Given the description of an element on the screen output the (x, y) to click on. 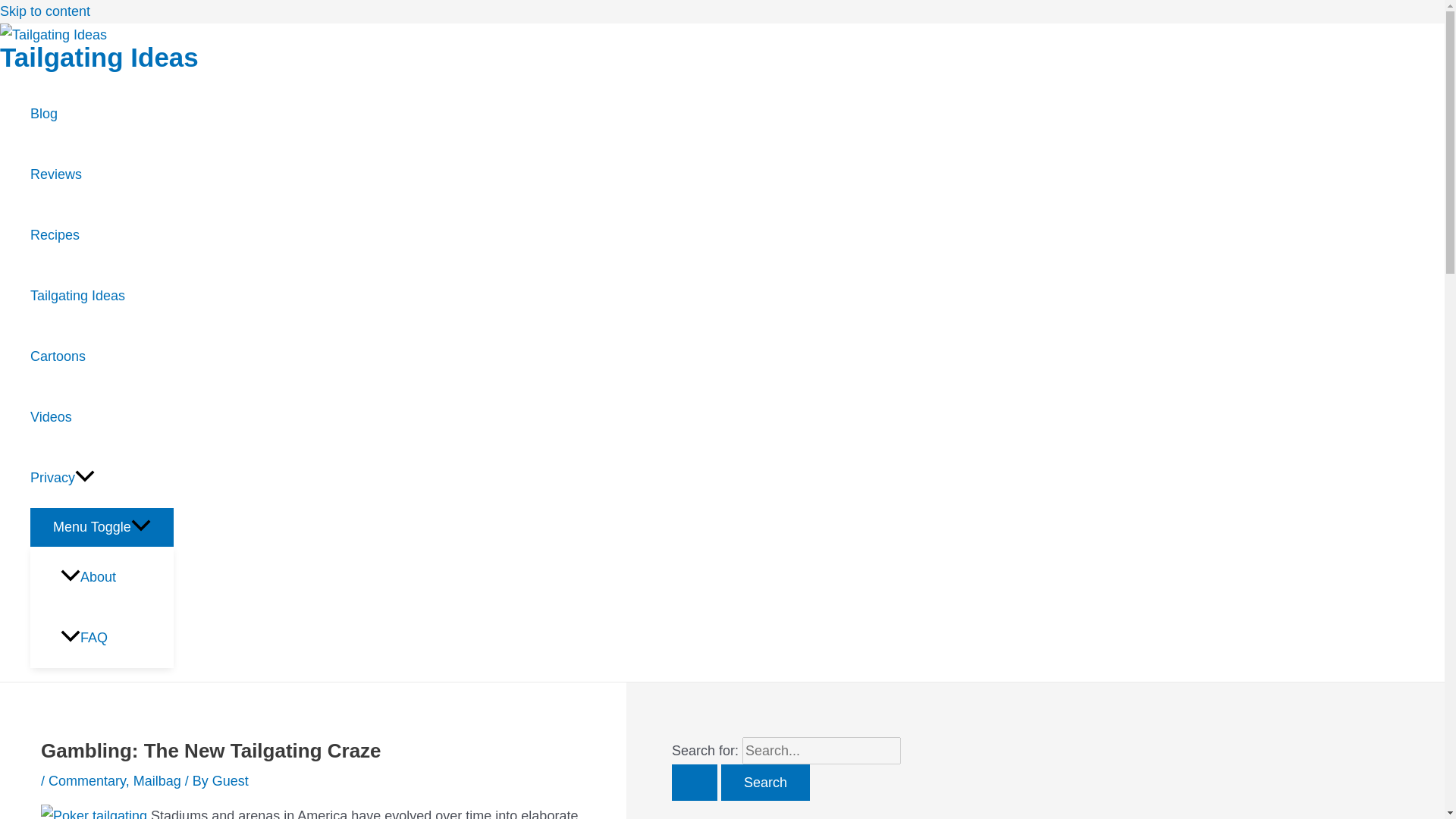
Search (764, 782)
Reviews (101, 174)
Tailgating Ideas (101, 295)
Guest (230, 780)
Skip to content (45, 11)
Videos (101, 416)
View all posts by Guest (230, 780)
Cartoons (101, 355)
Commentary (86, 780)
Skip to content (45, 11)
Search (764, 782)
Privacy (101, 477)
FAQ (117, 637)
Poker tailgating (93, 811)
Mailbag (156, 780)
